Given the description of an element on the screen output the (x, y) to click on. 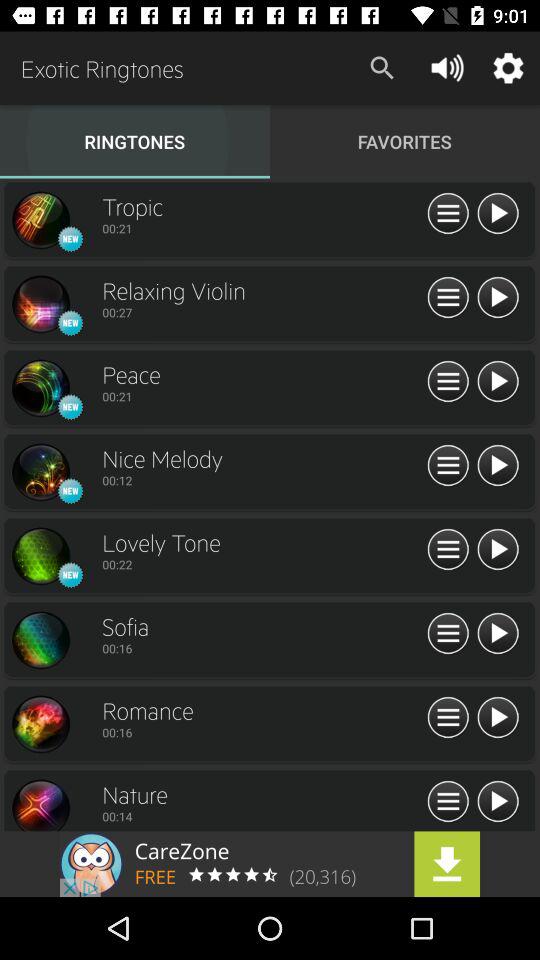
song design symbol (40, 640)
